Given the description of an element on the screen output the (x, y) to click on. 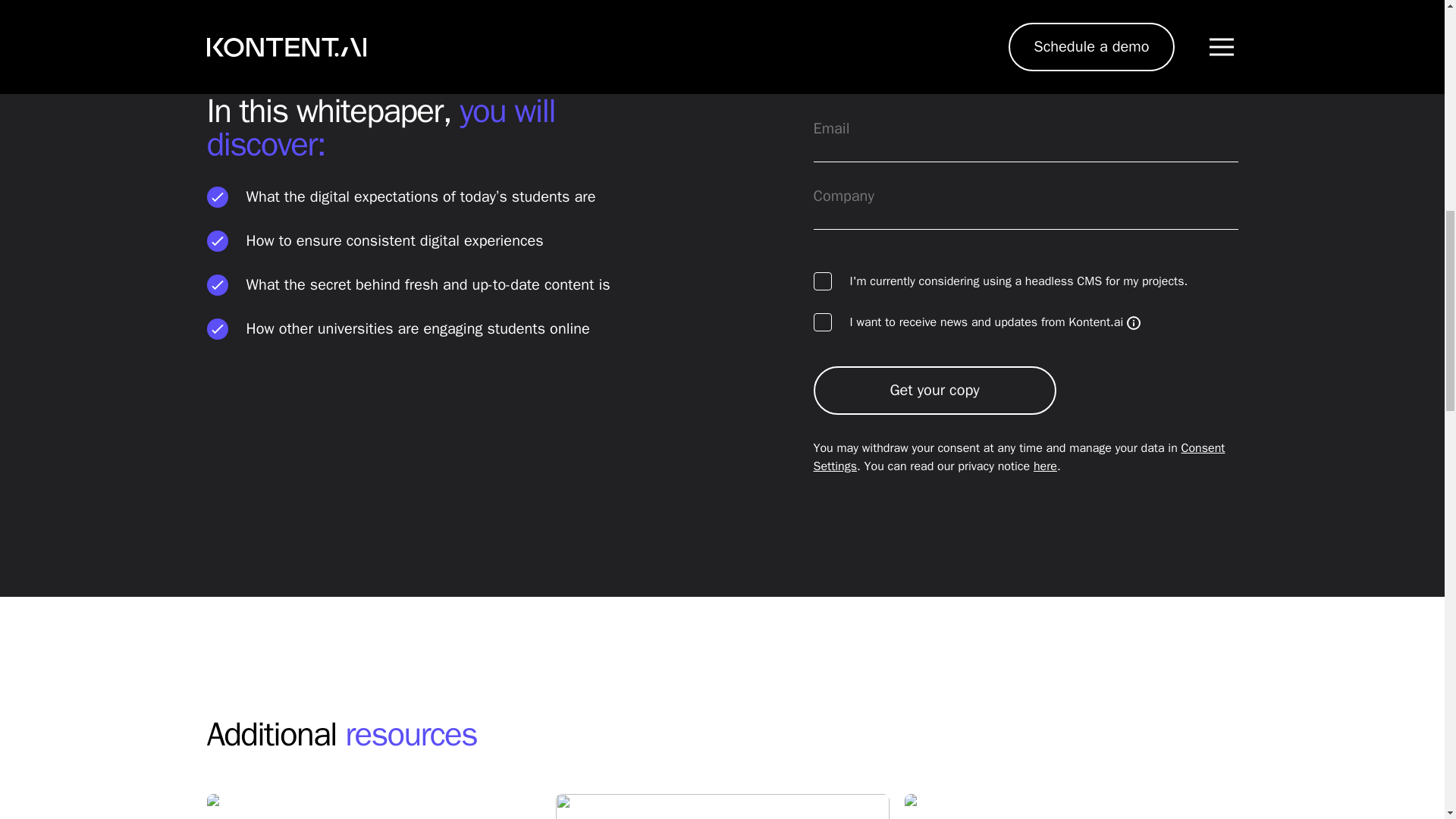
Get your copy (933, 390)
Consent Settings (1018, 457)
here (1045, 466)
